Given the description of an element on the screen output the (x, y) to click on. 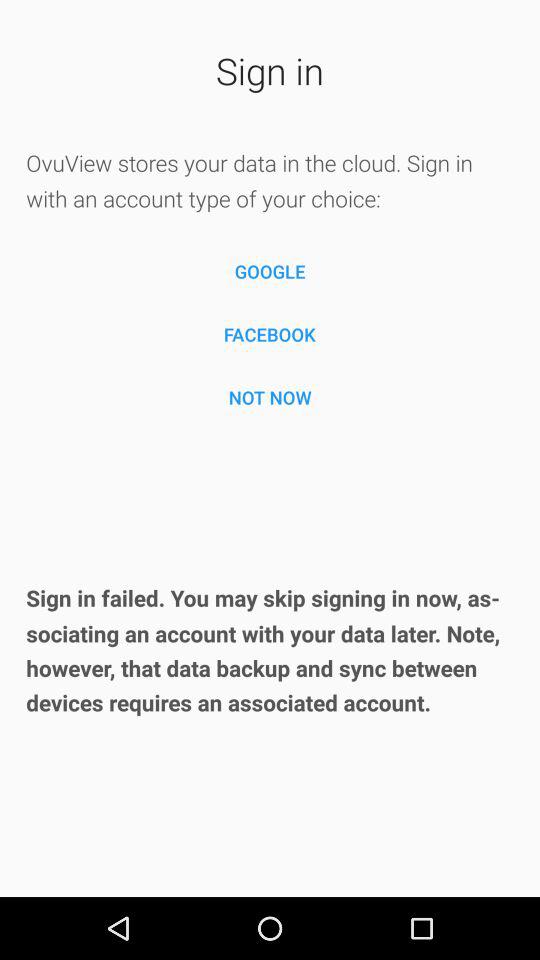
press not now (269, 397)
